Given the description of an element on the screen output the (x, y) to click on. 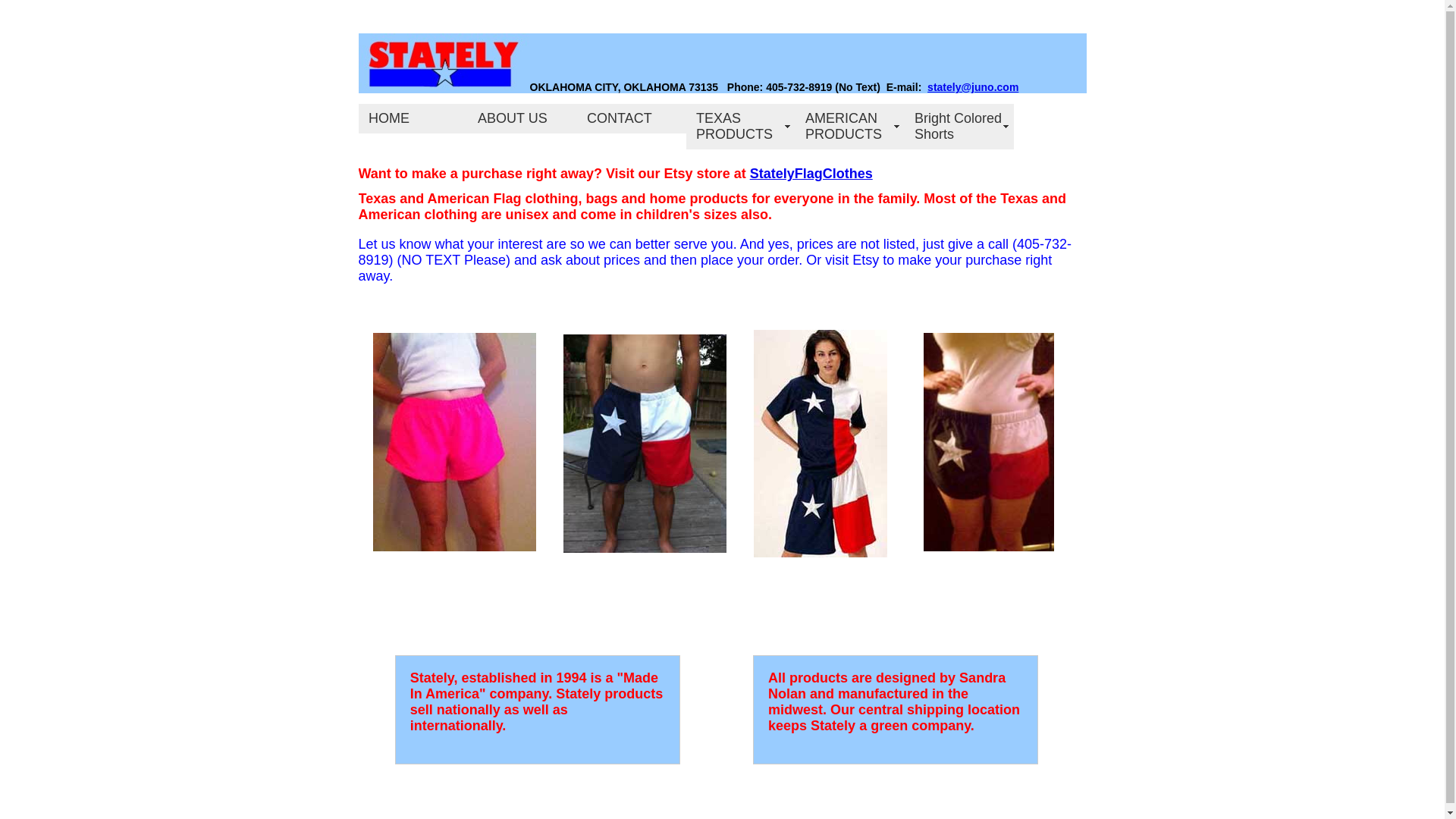
StatelyFlagClothes (810, 173)
HOME (412, 118)
Bright Colored Shorts (958, 126)
AMERICAN PRODUCTS (849, 126)
TEXAS PRODUCTS (739, 126)
CONTACT (630, 118)
ABOUT US (521, 118)
